Given the description of an element on the screen output the (x, y) to click on. 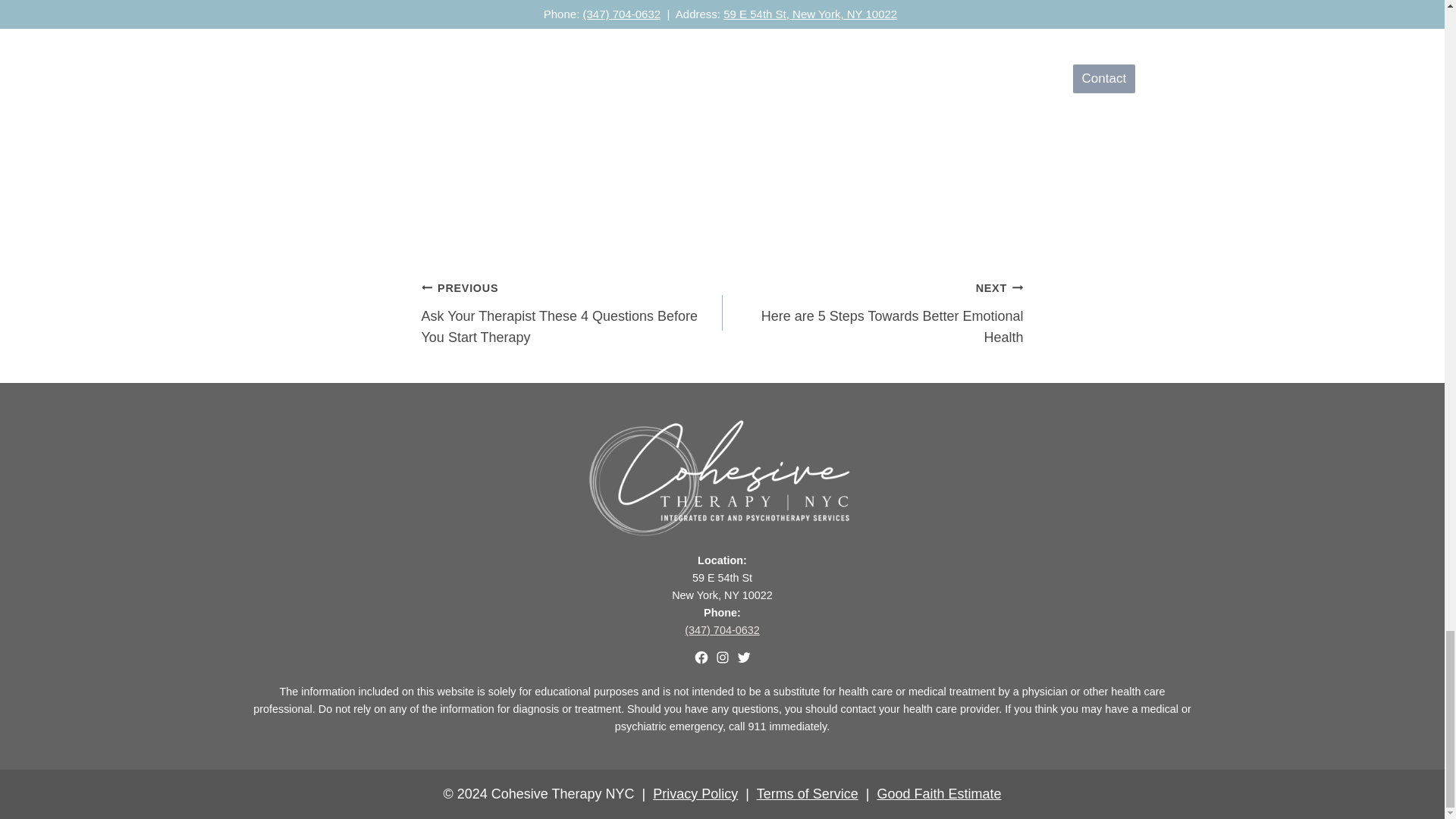
facebook link (700, 657)
Instagram (721, 657)
Twitter (872, 312)
